Given the description of an element on the screen output the (x, y) to click on. 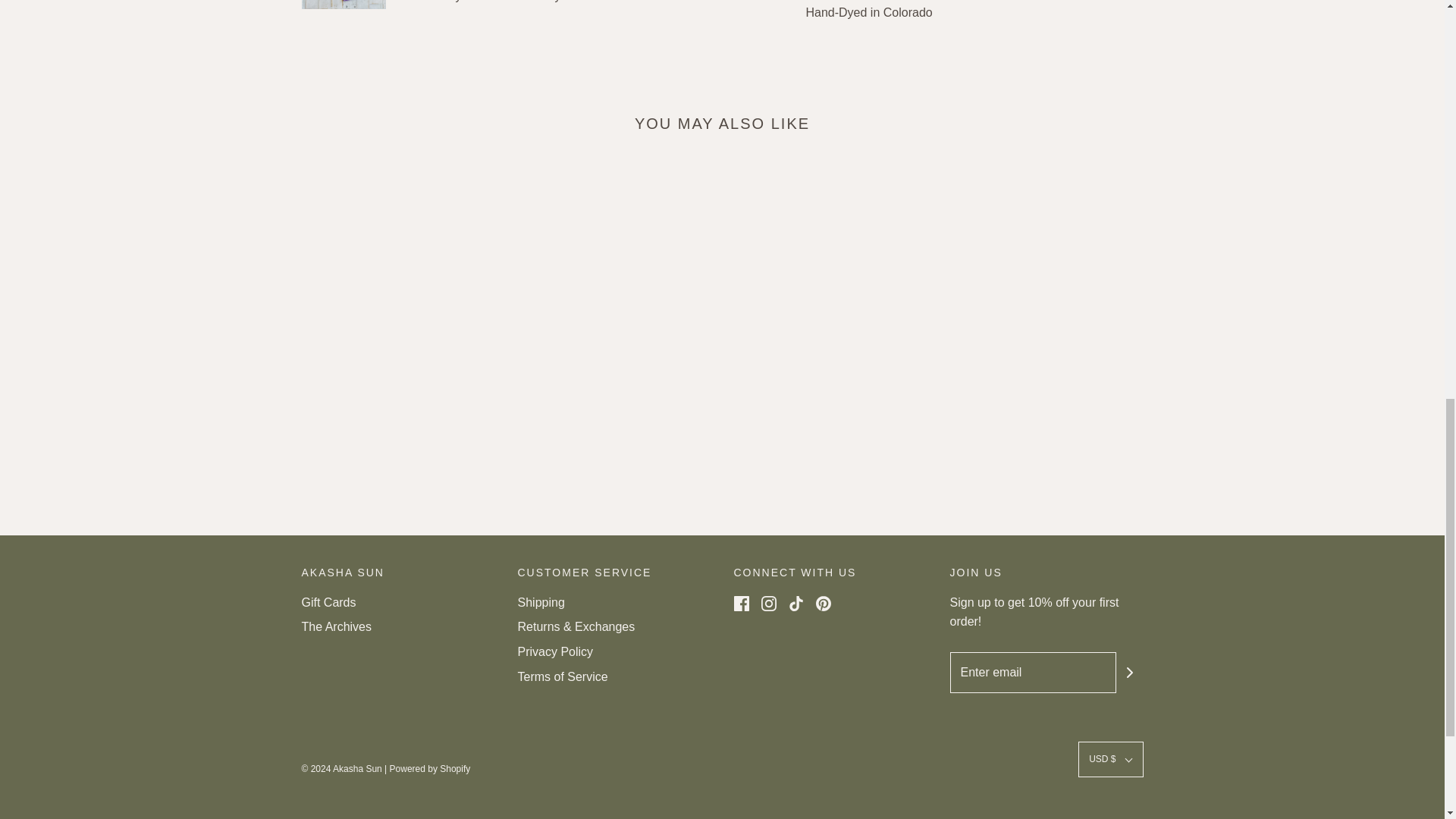
Facebook icon (741, 603)
Pinterest icon (823, 603)
TikTok icon (796, 603)
Instagram icon (768, 603)
